Given the description of an element on the screen output the (x, y) to click on. 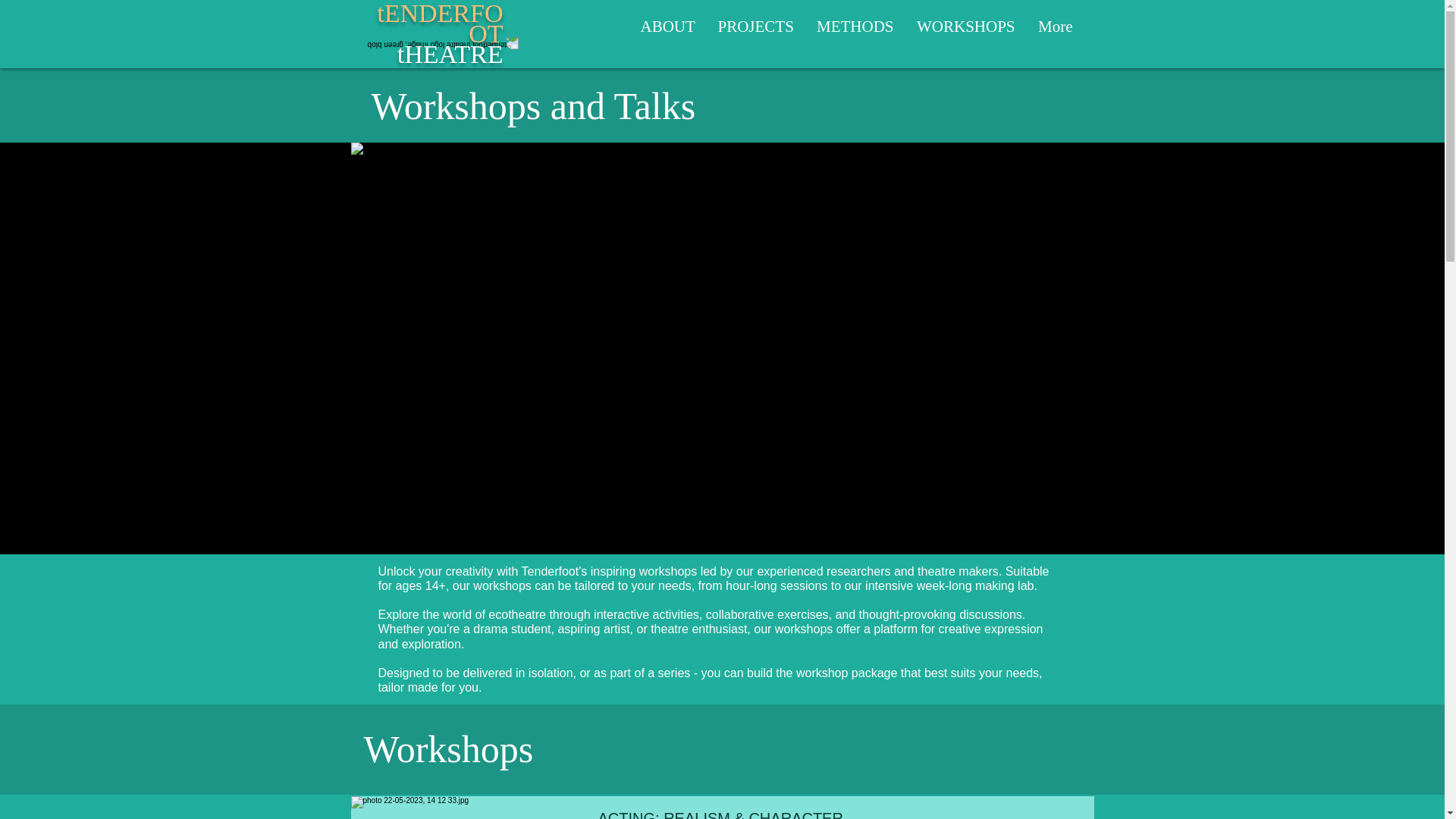
ABOUT (439, 33)
METHODS (667, 27)
WORKSHOPS (855, 27)
PROJECTS (965, 27)
